Given the description of an element on the screen output the (x, y) to click on. 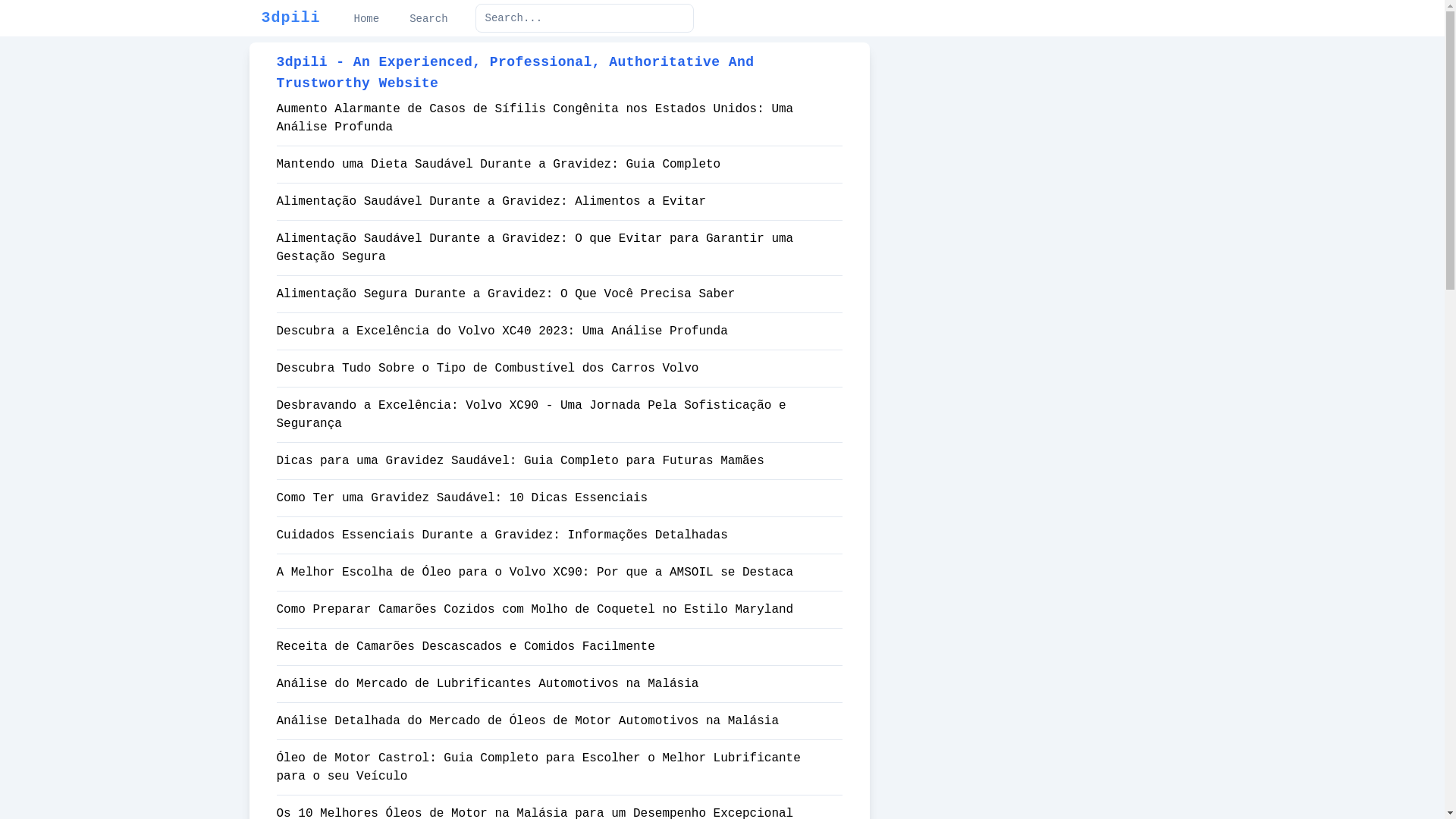
3dpili Element type: text (290, 17)
